Given the description of an element on the screen output the (x, y) to click on. 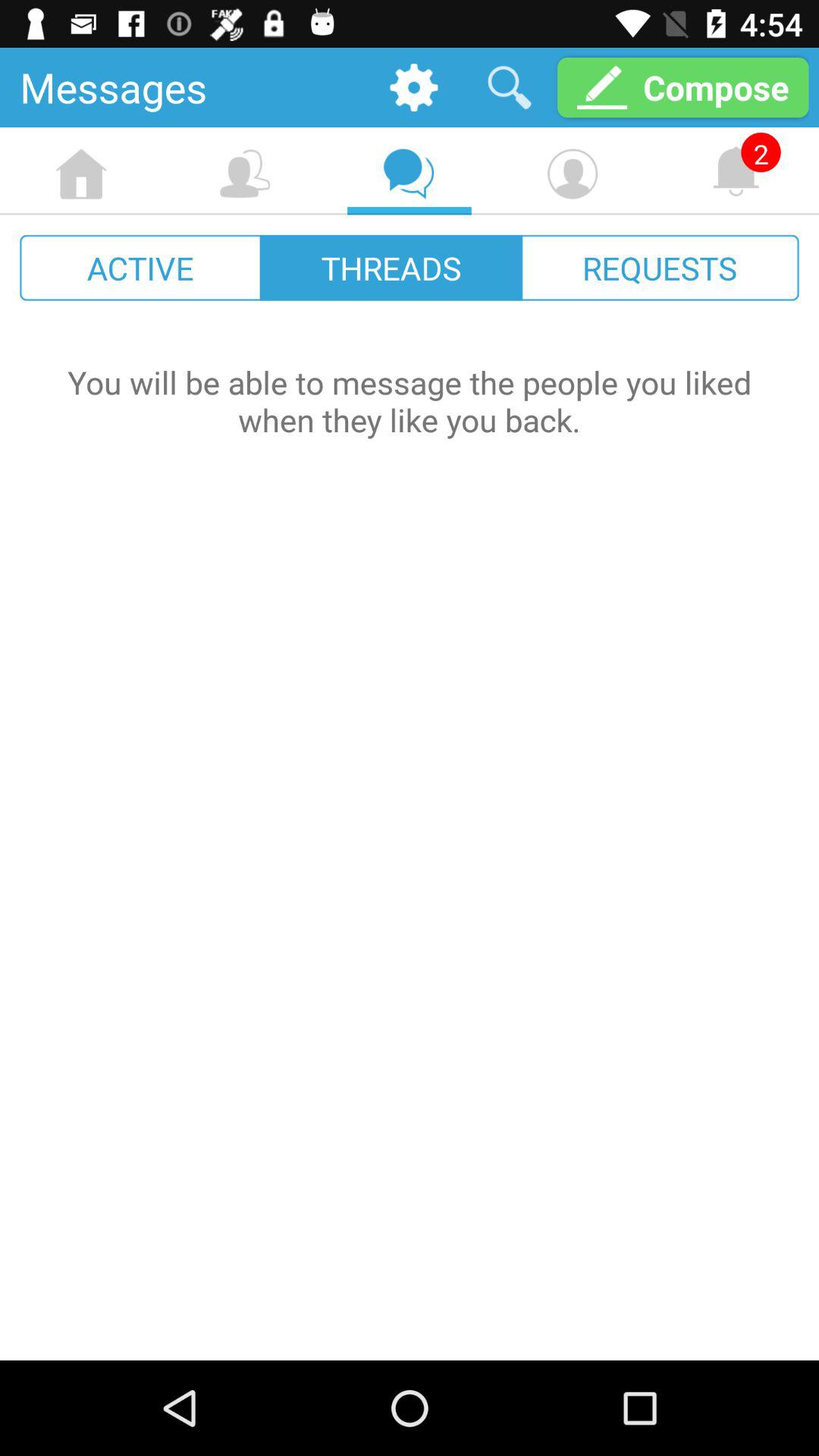
press the icon next to the compose item (509, 87)
